Given the description of an element on the screen output the (x, y) to click on. 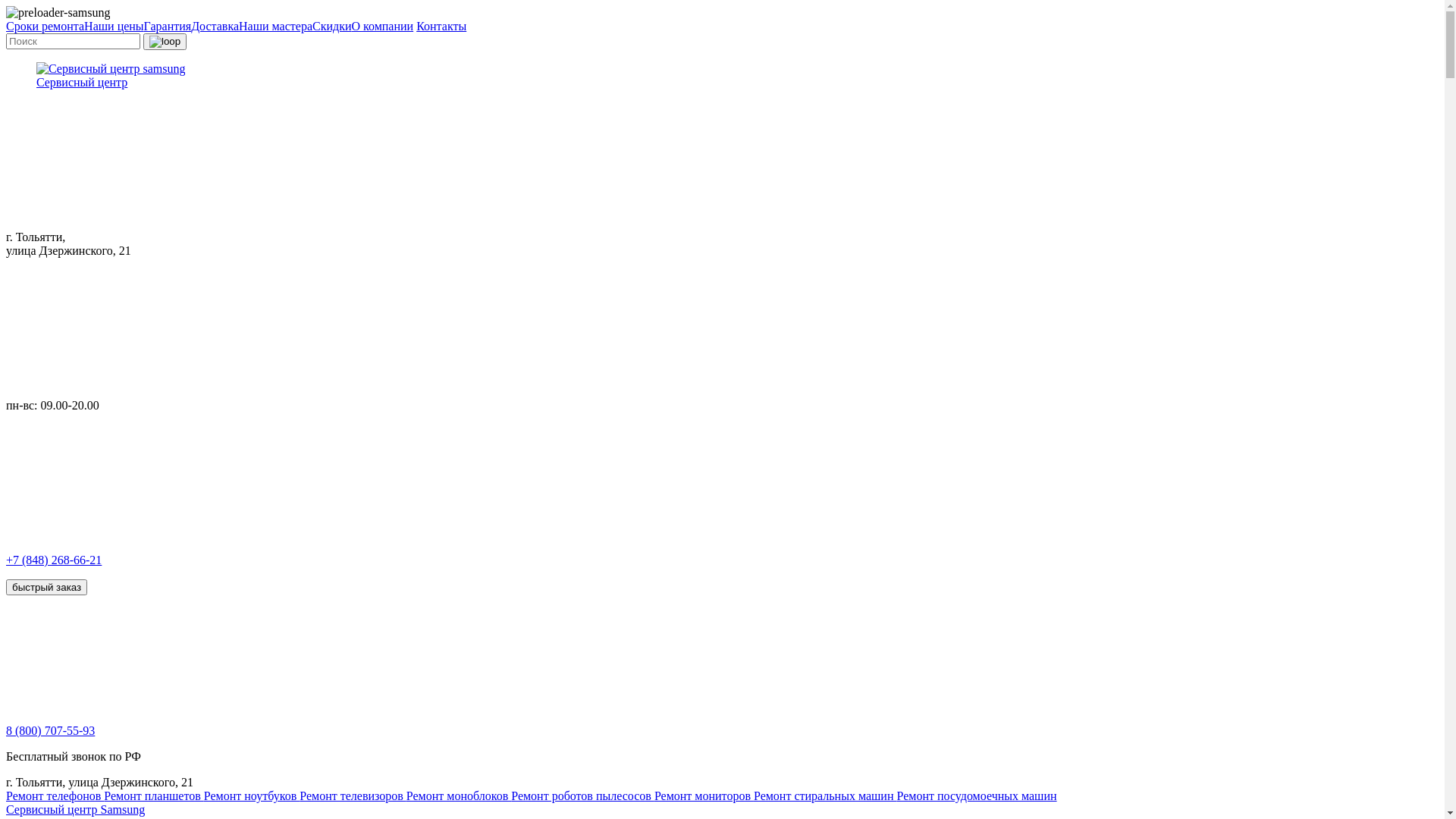
sisea.search Element type: text (164, 41)
8 (800) 707-55-93 Element type: text (50, 730)
+7 (848) 268-66-21 Element type: text (722, 508)
